Given the description of an element on the screen output the (x, y) to click on. 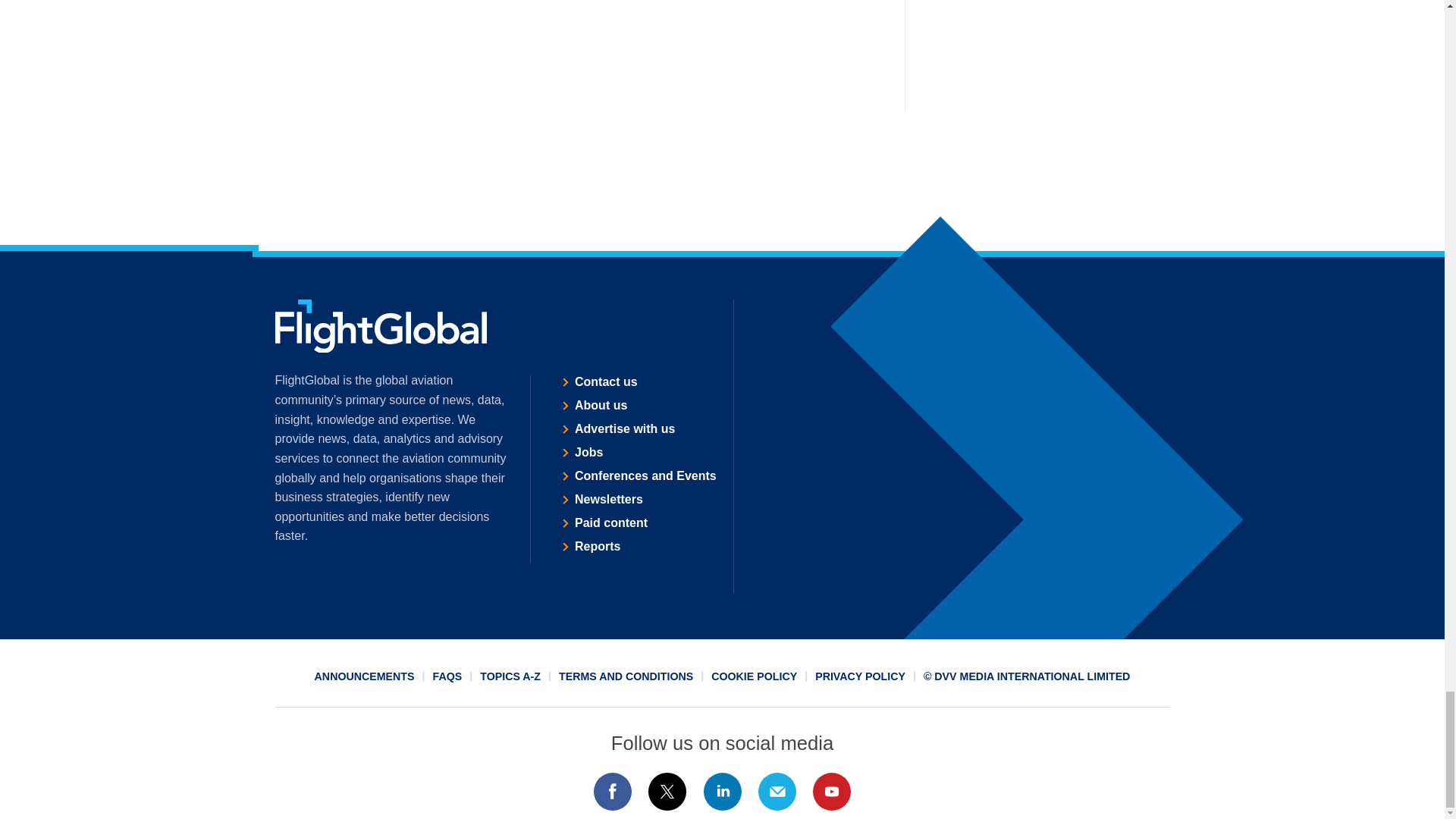
Connect with us on Twitter (667, 791)
Email us (776, 791)
Connect with us on Linked In (721, 791)
Connect with us on Youtube (831, 791)
Connect with us on Facebook (611, 791)
